Given the description of an element on the screen output the (x, y) to click on. 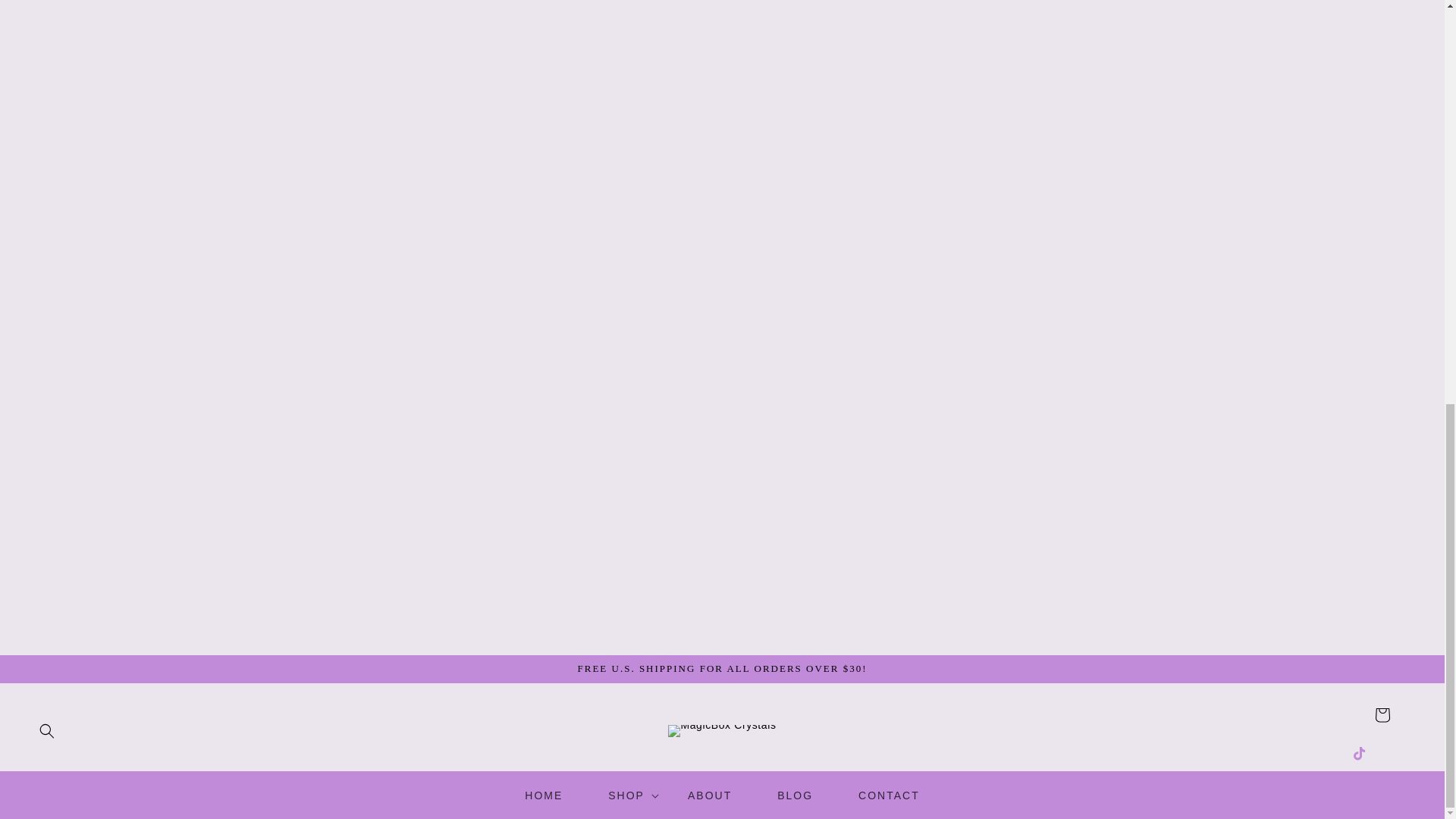
Cart (1382, 715)
ABOUT (709, 794)
CONTACT (888, 794)
BLOG (794, 794)
HOME (543, 794)
